Given the description of an element on the screen output the (x, y) to click on. 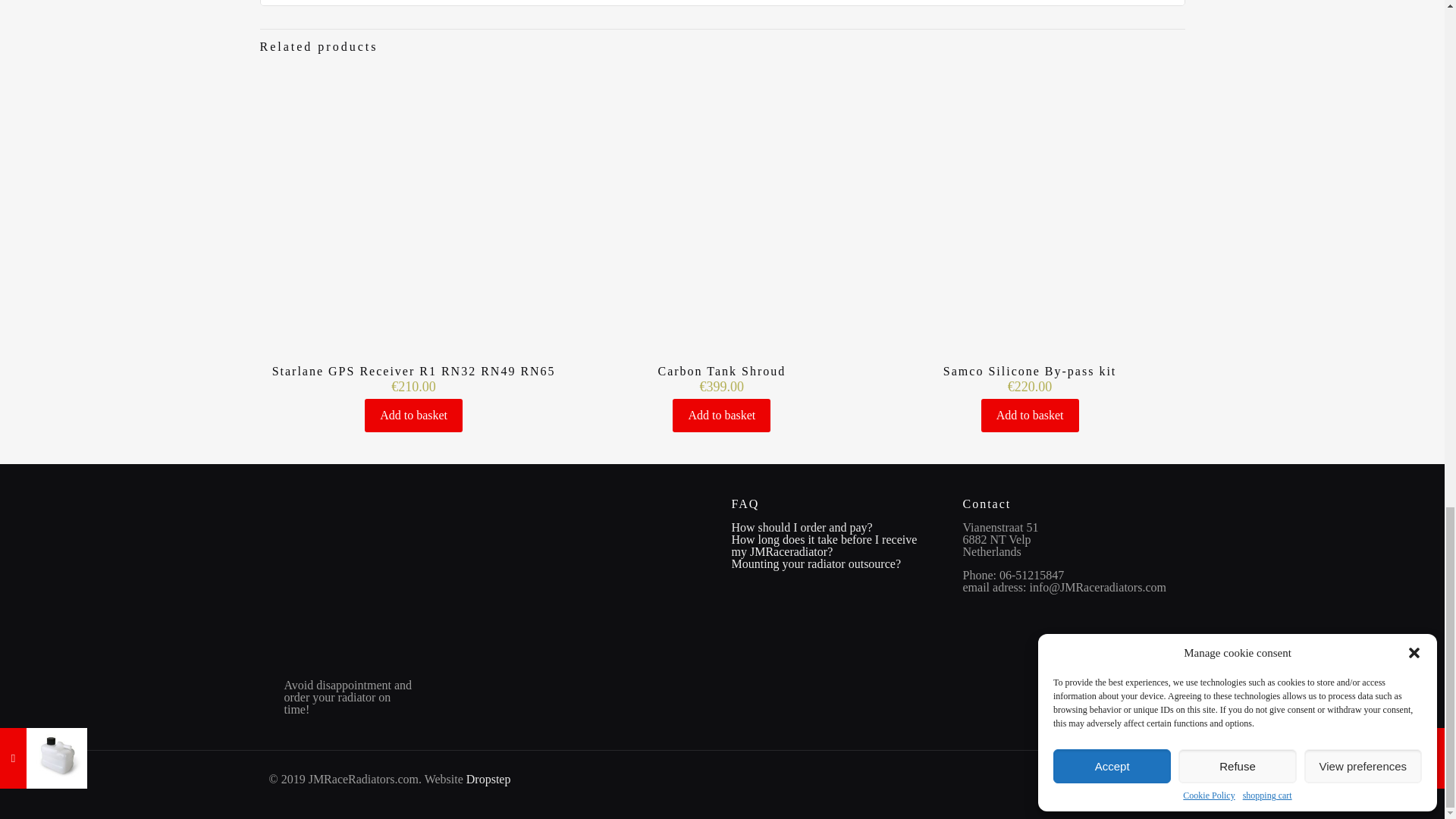
Facebook (1155, 779)
WhatsApp (1138, 779)
